Given the description of an element on the screen output the (x, y) to click on. 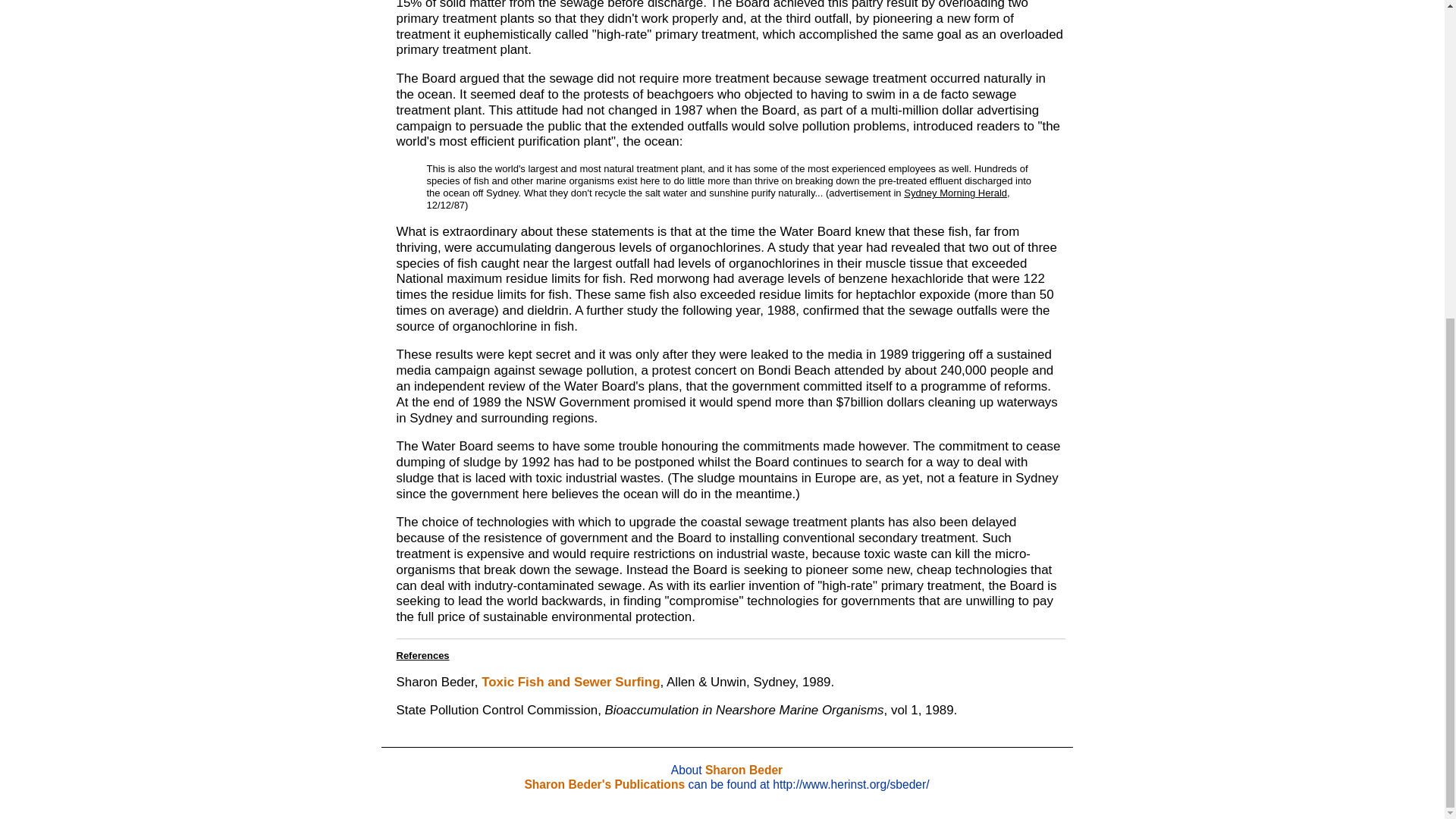
Sharon Beder's Publications (604, 784)
Toxic Fish and Sewer Surfing (570, 681)
Sharon Beder (743, 769)
